Given the description of an element on the screen output the (x, y) to click on. 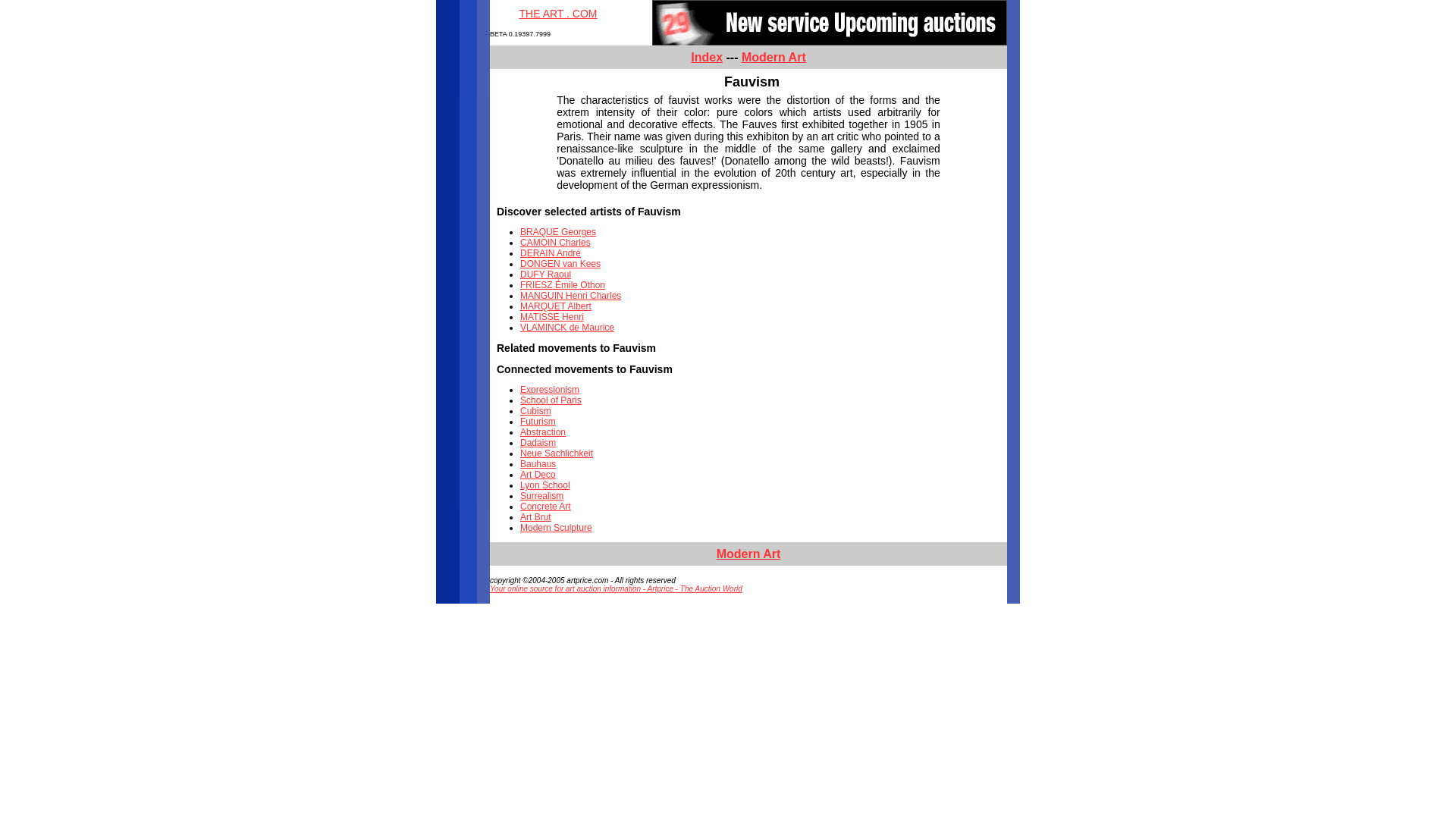
VLAMINCK de Maurice (566, 327)
Neue Sachlichkeit (555, 452)
Futurism (537, 421)
Dadaism (537, 442)
DUFY Raoul (544, 274)
MARQUET Albert (555, 306)
Concrete Art (544, 506)
Modern Art (773, 56)
MANGUIN Henri Charles (570, 295)
School of Paris (549, 399)
Abstraction (542, 431)
Modern Sculpture (555, 527)
Index (706, 56)
Modern Art (748, 553)
